Given the description of an element on the screen output the (x, y) to click on. 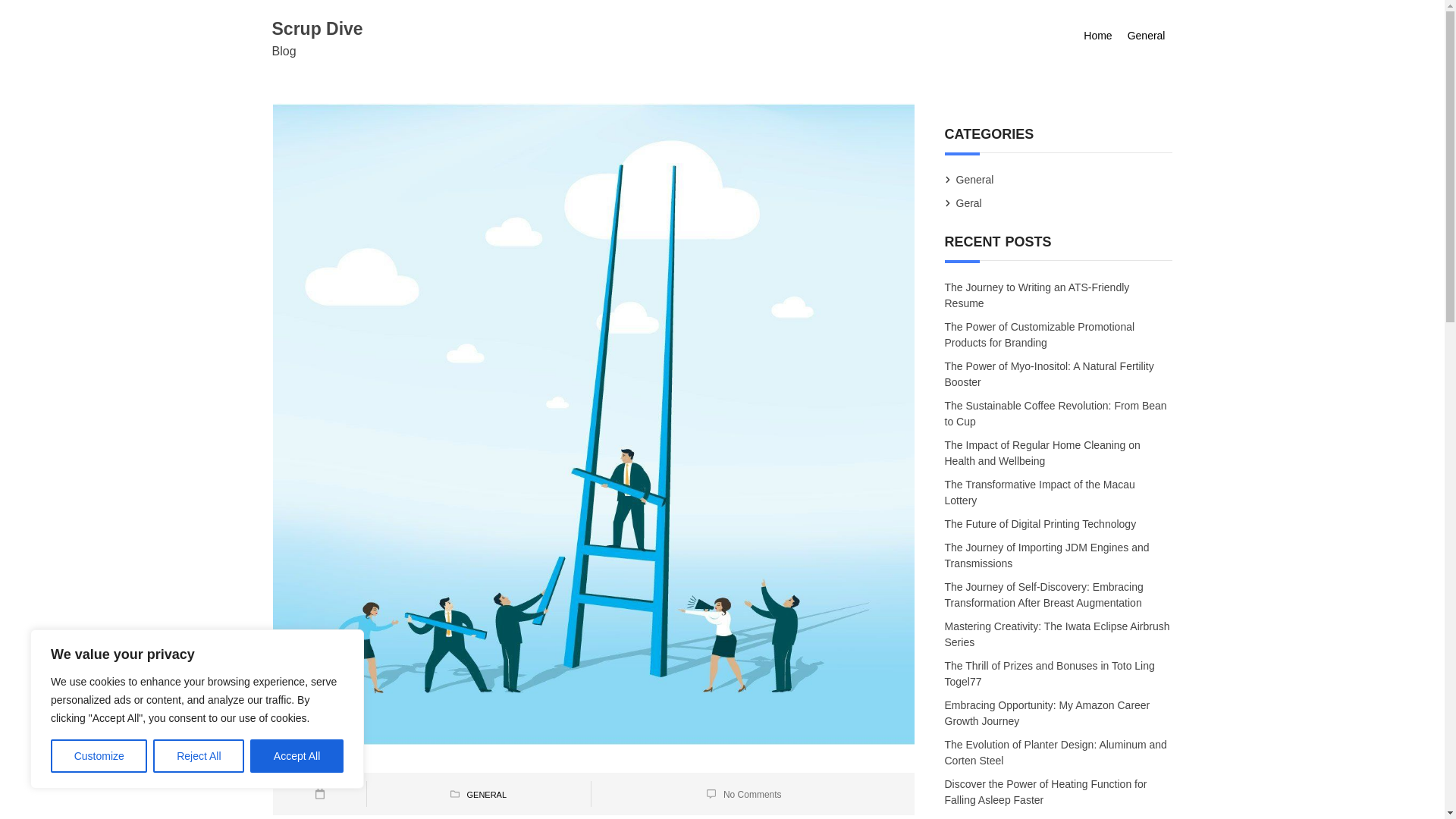
The Future of Digital Printing Technology (1041, 523)
The Journey to Writing an ATS-Friendly Resume (1036, 295)
Home (1097, 35)
The Power of Customizable Promotional Products for Branding (1039, 334)
General (1146, 35)
Geral (968, 203)
GENERAL (485, 794)
The Power of Myo-Inositol: A Natural Fertility Booster (1049, 373)
The Journey of Importing JDM Engines and Transmissions (1047, 556)
The Transformative Impact of the Macau Lottery (1039, 492)
